Given the description of an element on the screen output the (x, y) to click on. 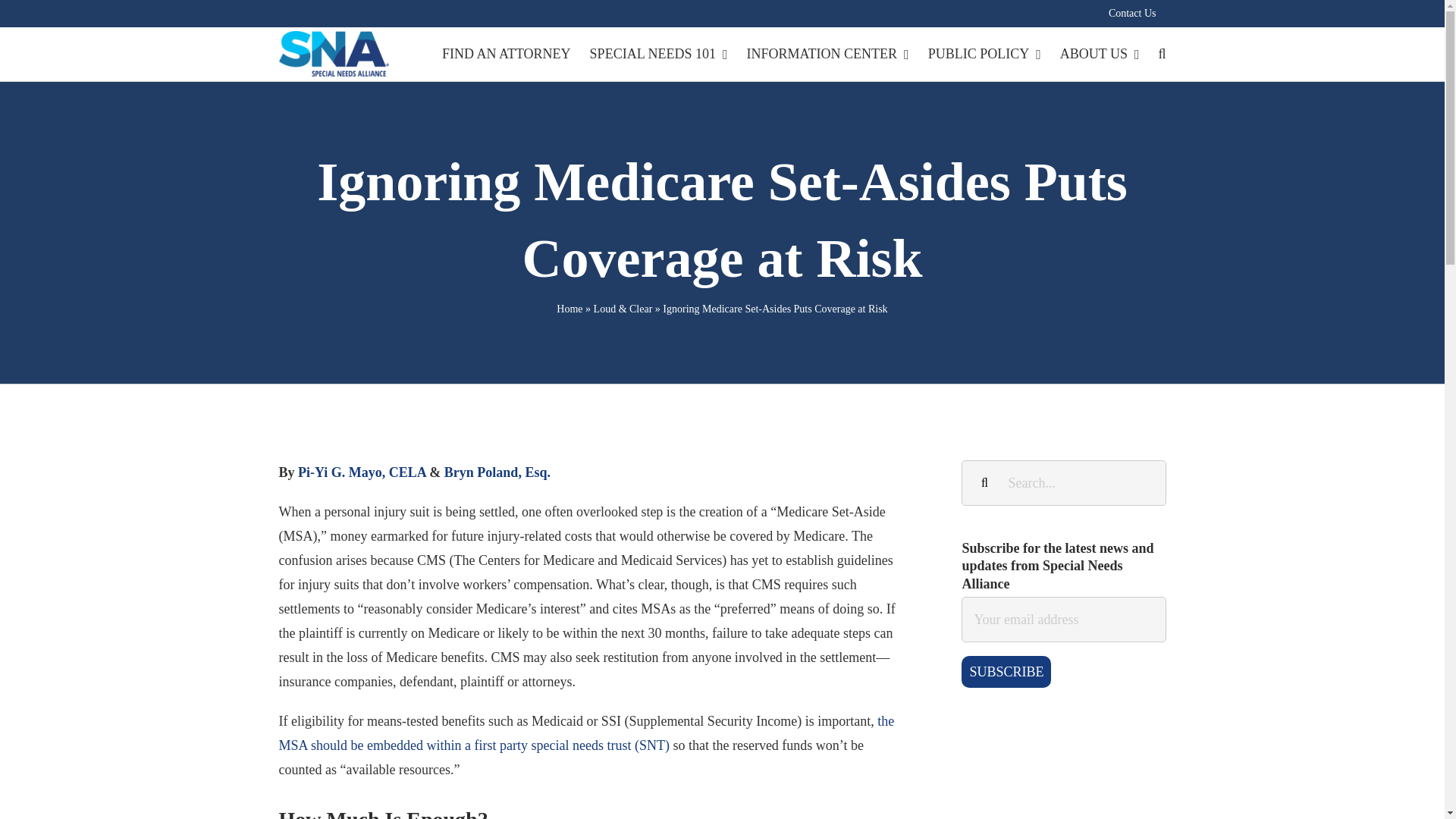
FIND AN ATTORNEY (506, 53)
PUBLIC POLICY (984, 53)
INFORMATION CENTER (827, 53)
SPECIAL NEEDS 101 (658, 53)
Contact Us (1132, 13)
ABOUT US (1099, 53)
SUBSCRIBE (1005, 671)
